Given the description of an element on the screen output the (x, y) to click on. 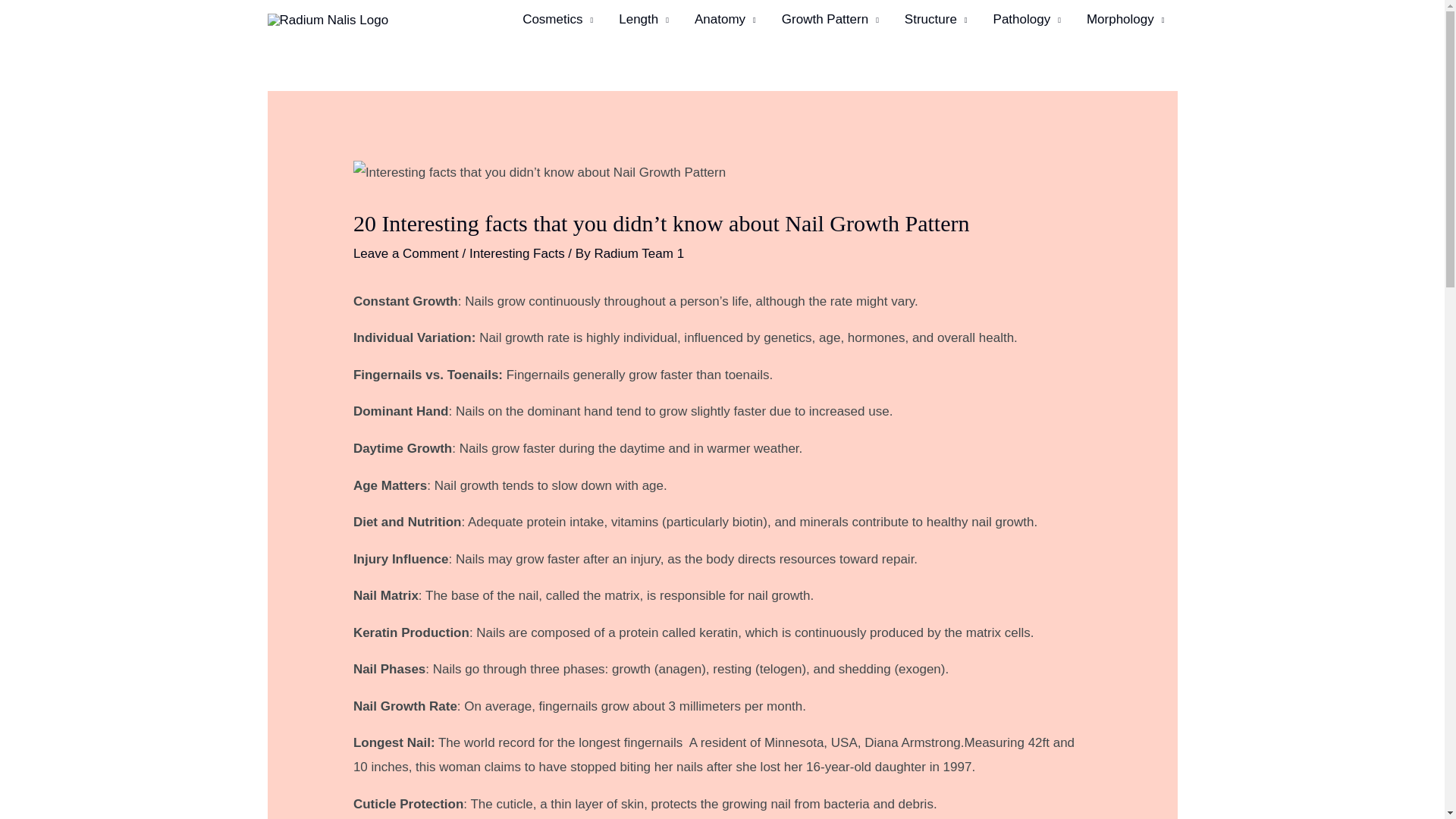
Morphology (1125, 19)
Cosmetics (557, 19)
Structure (935, 19)
Anatomy (724, 19)
Growth Pattern (829, 19)
Length (643, 19)
View all posts by Radium Team 1 (639, 253)
Pathology (1026, 19)
